Given the description of an element on the screen output the (x, y) to click on. 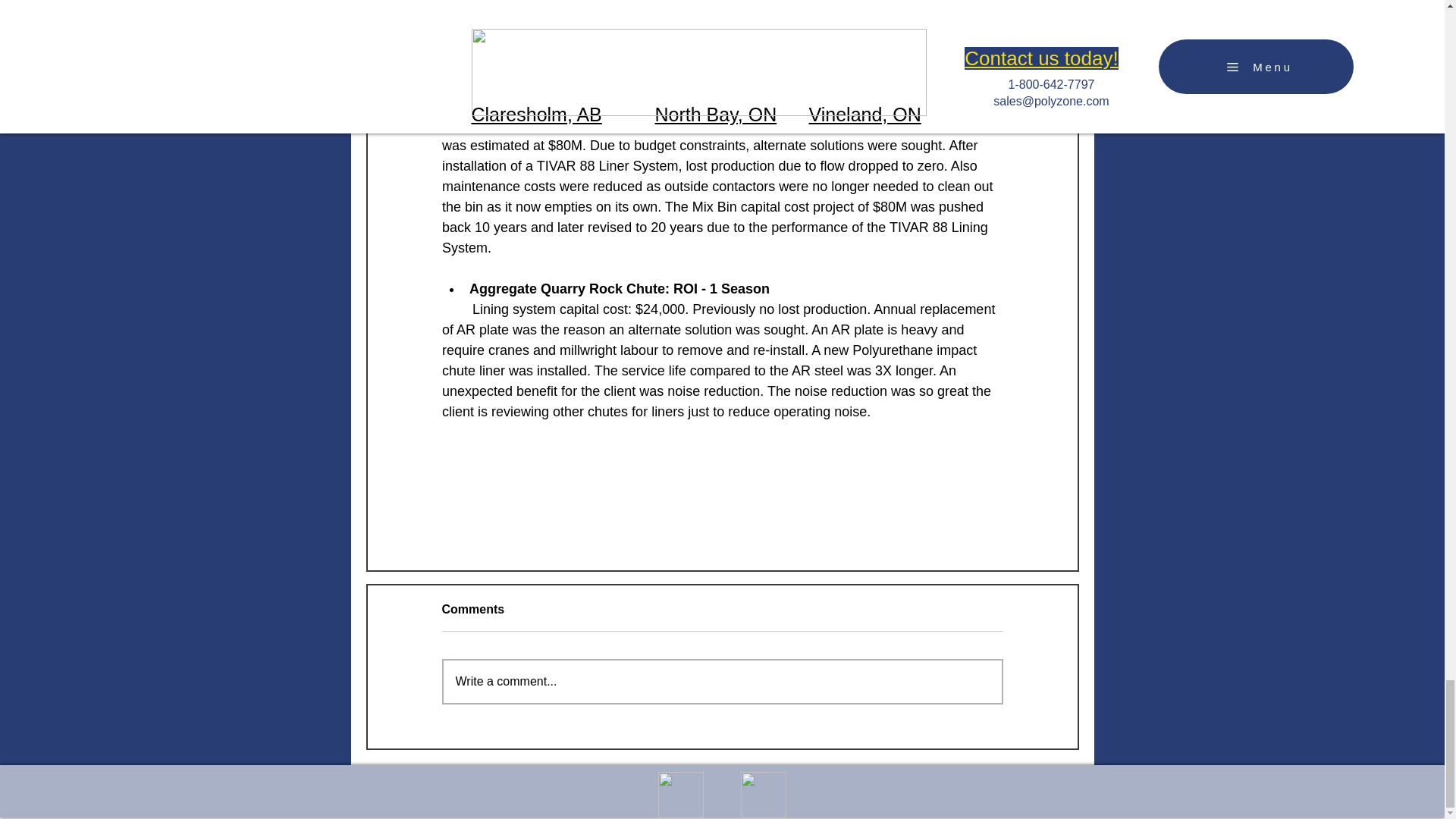
Write a comment... (721, 681)
Location (762, 794)
